Given the description of an element on the screen output the (x, y) to click on. 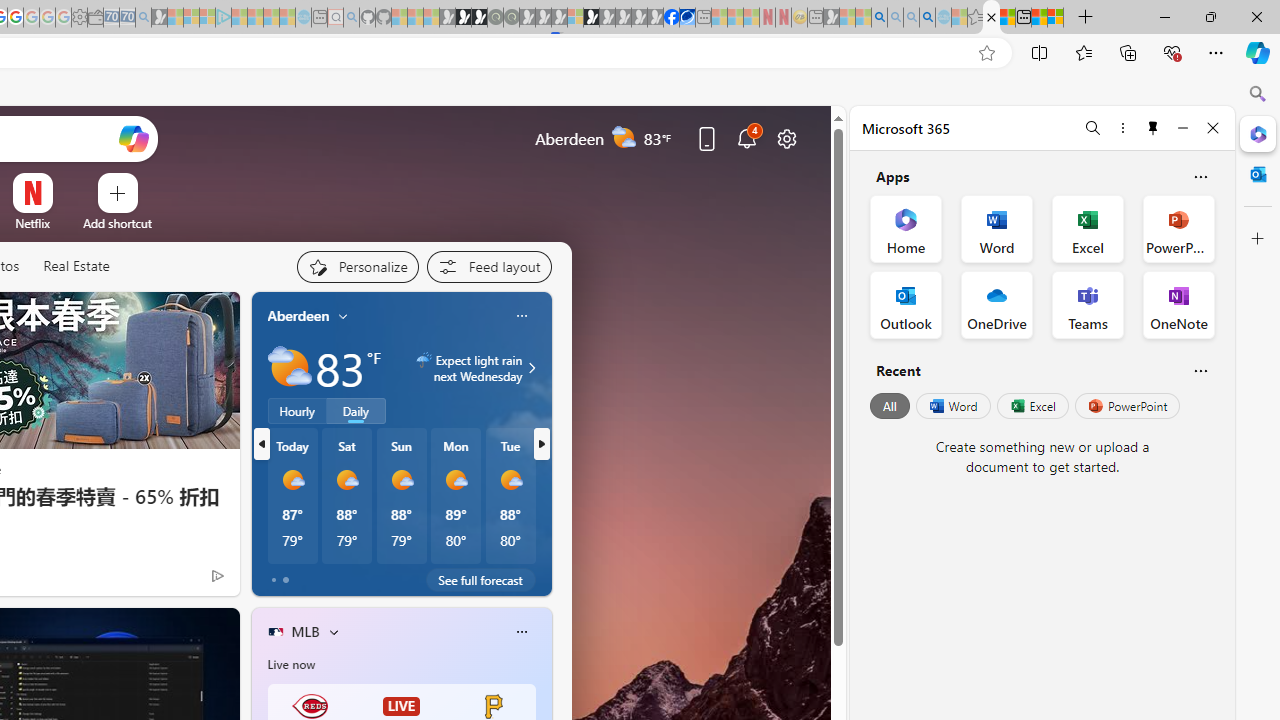
Google Chrome Internet Browser Download - Search Images (927, 17)
Wallet - Sleeping (95, 17)
New tab - Sleeping (815, 17)
Add a site (117, 223)
Outlook Office App (906, 304)
Open Copilot (132, 138)
